Given the description of an element on the screen output the (x, y) to click on. 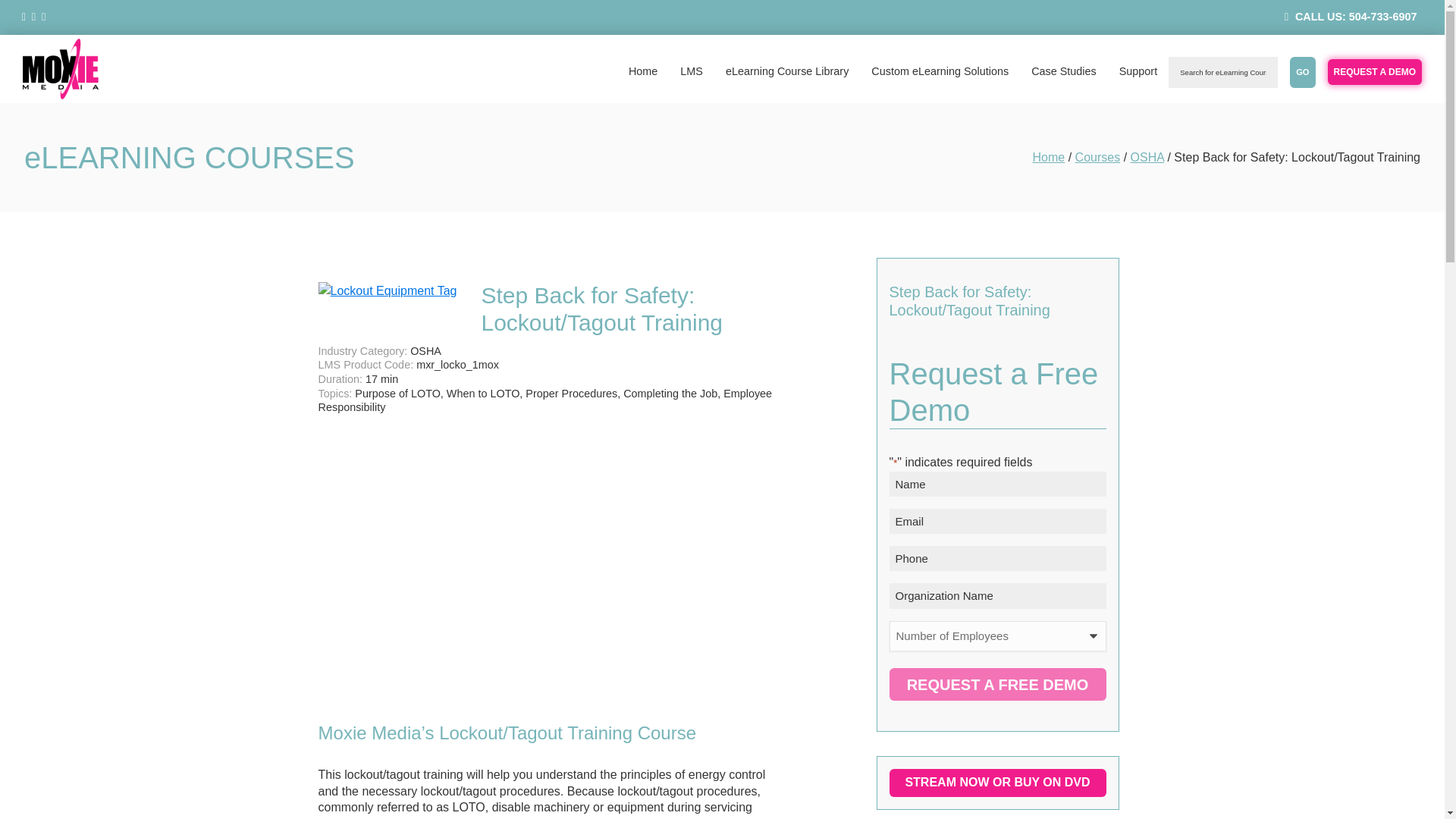
OSHA (1147, 156)
Home (1048, 156)
Courses (1098, 156)
Moxie Media (44, 114)
Request A Free Demo (996, 684)
LMS (691, 71)
Case Studies (1064, 71)
eLearning Course Library (787, 71)
Support (1138, 71)
